Given the description of an element on the screen output the (x, y) to click on. 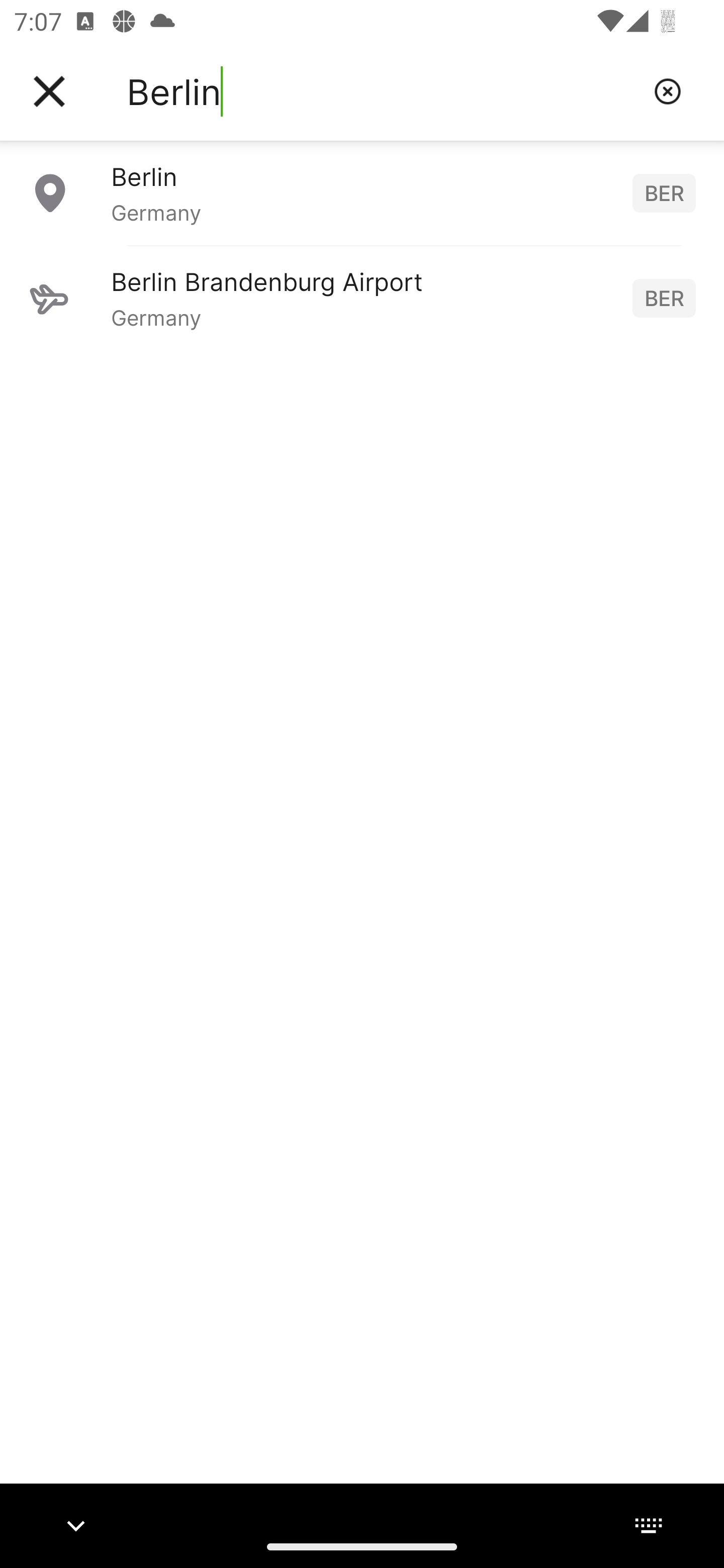
Berlin (382, 91)
Berlin Germany BER (362, 192)
Berlin Brandenburg Airport Germany BER (362, 297)
